Given the description of an element on the screen output the (x, y) to click on. 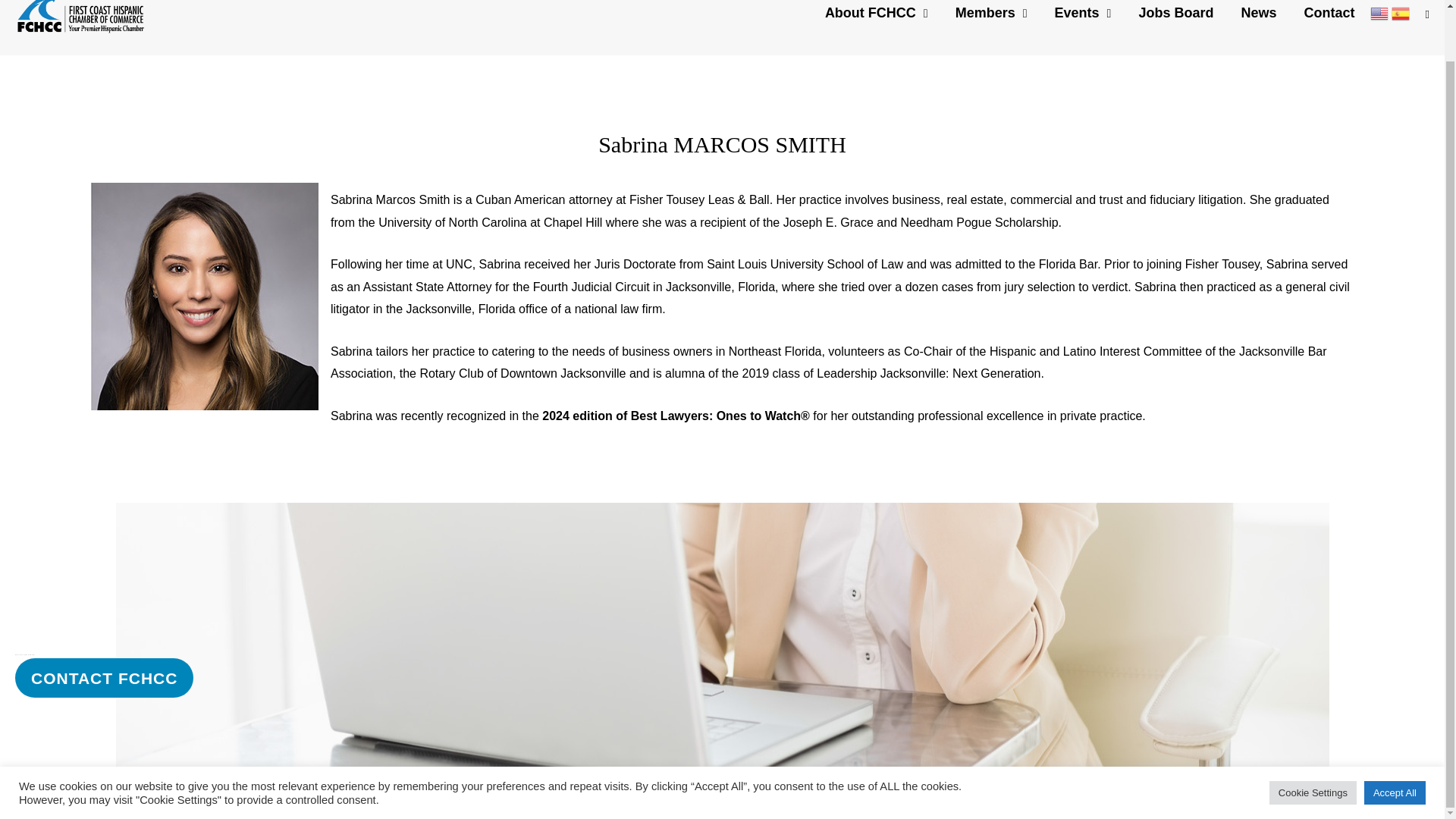
Jobs Board (1175, 27)
CONTACT FCHCC (103, 677)
Contact (1329, 27)
About FCHCC (876, 27)
Spanish (1400, 11)
Kim McDougal, Vice President of Interactive Communications (417, 800)
Events (1083, 27)
Members (991, 27)
English (1379, 11)
News (1258, 27)
